Given the description of an element on the screen output the (x, y) to click on. 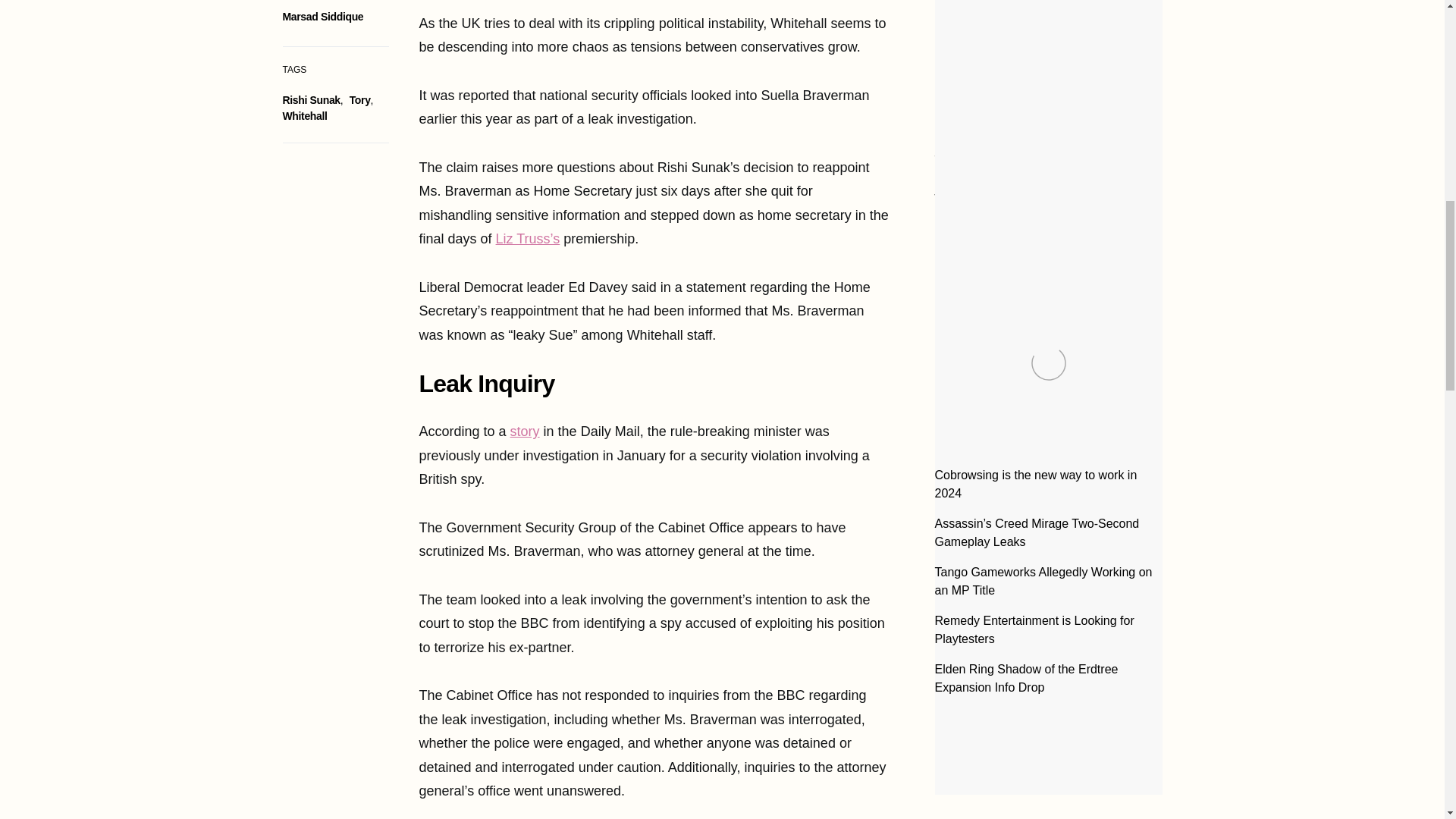
Whitehall (304, 115)
Marsad Siddique (322, 16)
Tory (360, 100)
Rishi Sunak (310, 100)
story (525, 431)
